Given the description of an element on the screen output the (x, y) to click on. 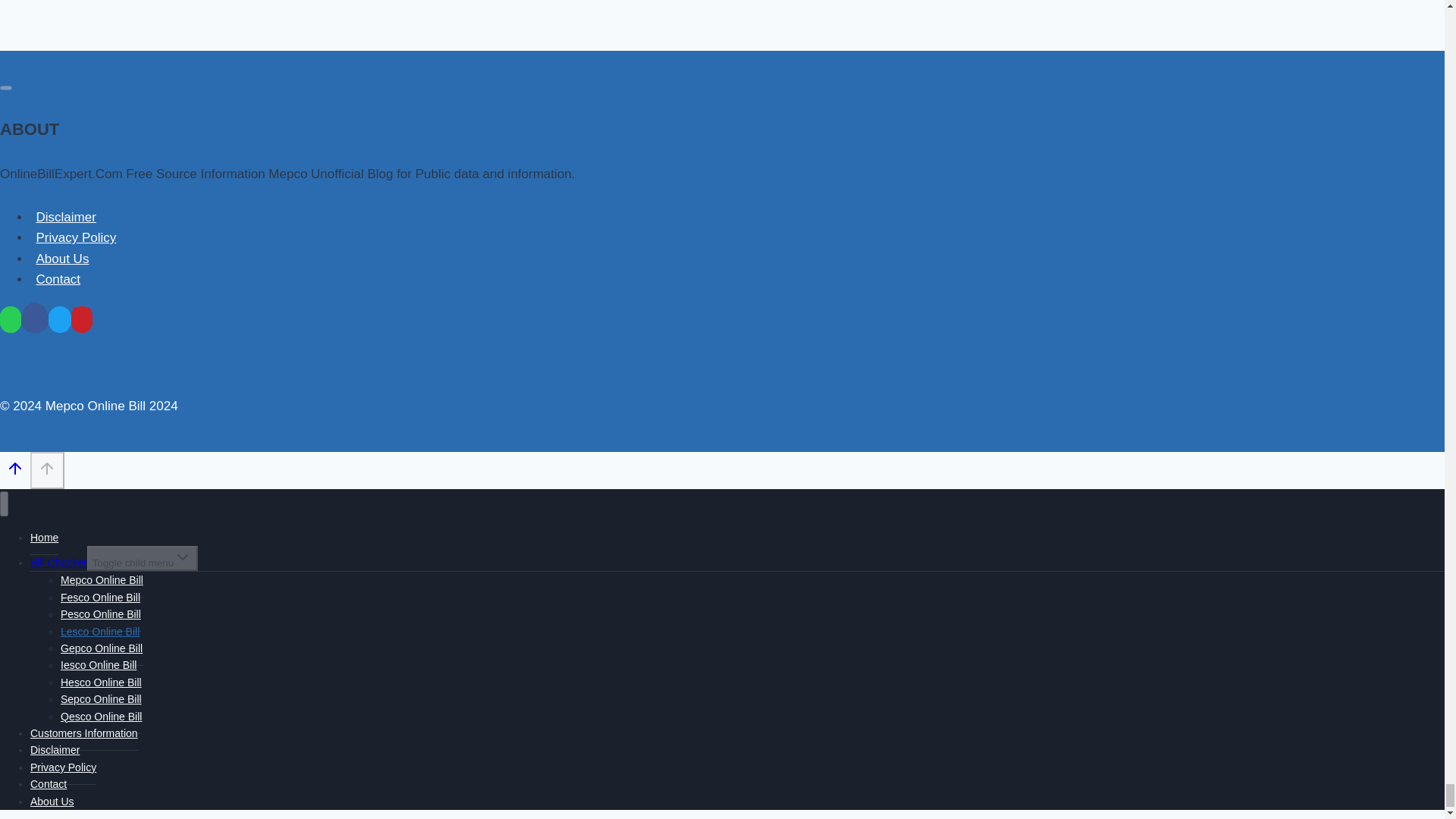
Scroll to top (15, 471)
Scroll to top (47, 470)
